Given the description of an element on the screen output the (x, y) to click on. 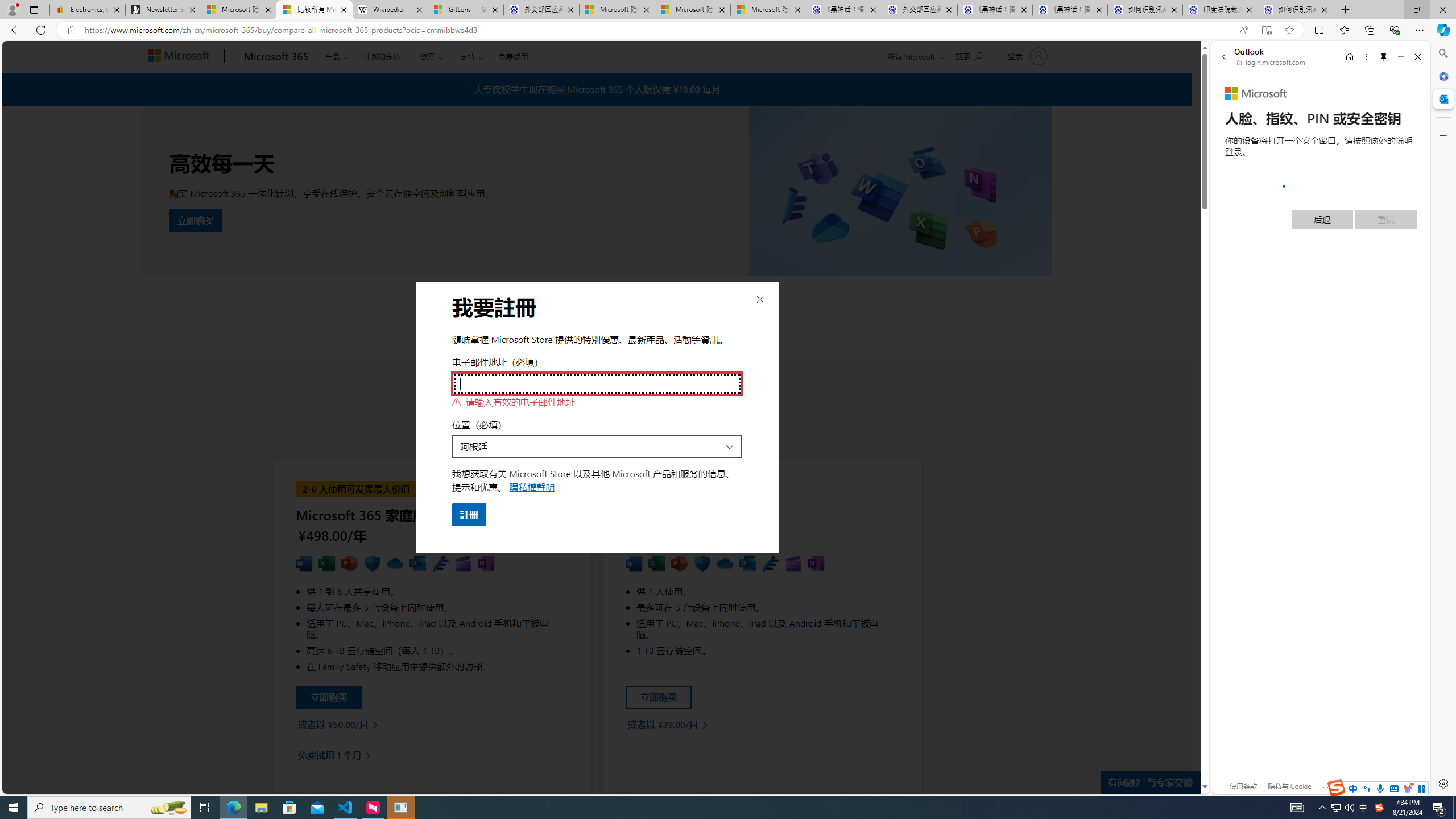
Newsletter Sign Up (162, 9)
